Given the description of an element on the screen output the (x, y) to click on. 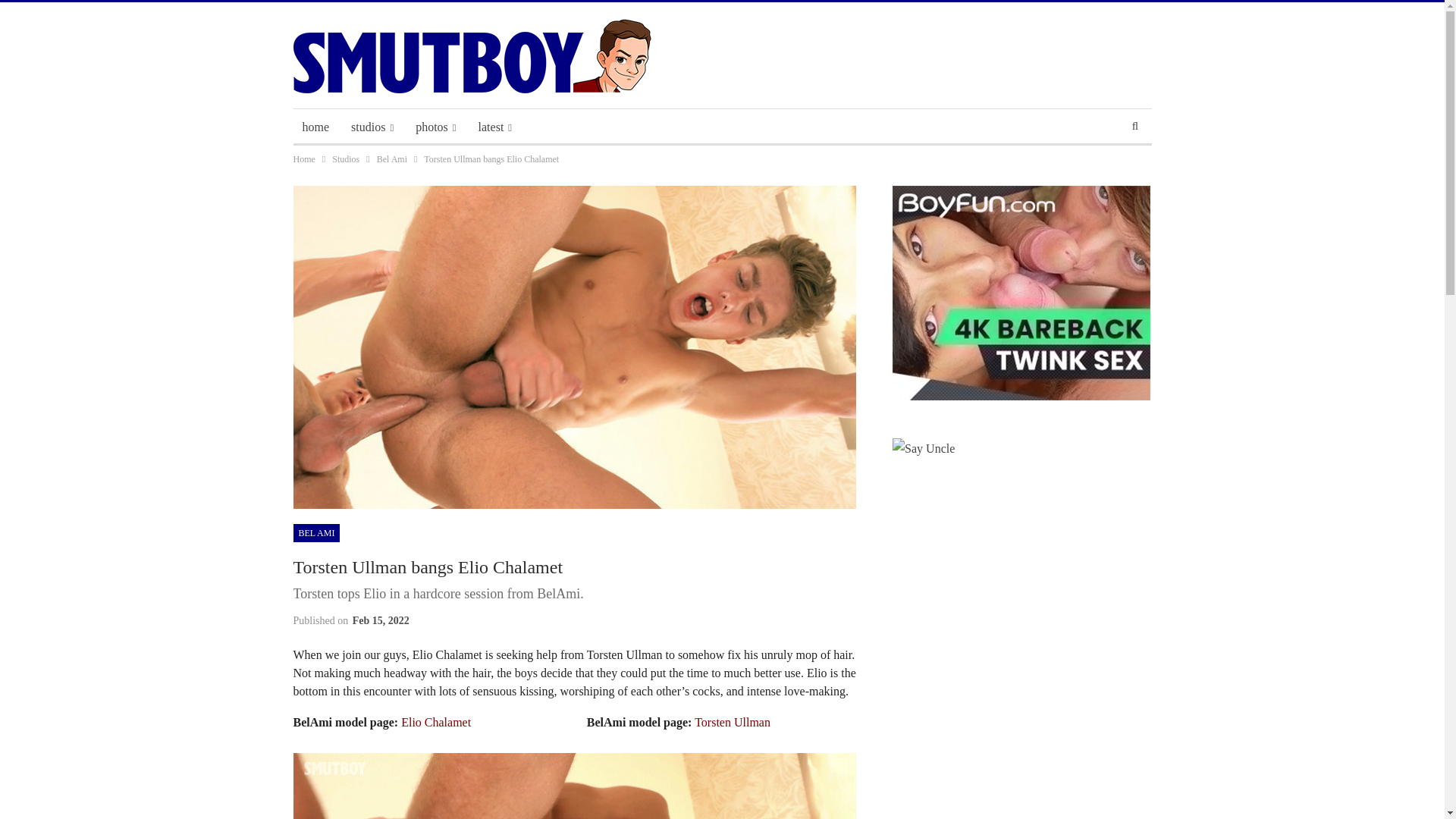
Torsten Ullman bangs Elio Chalamet 1 (574, 785)
photos (435, 126)
home (314, 126)
studios (372, 126)
latest (494, 126)
